Given the description of an element on the screen output the (x, y) to click on. 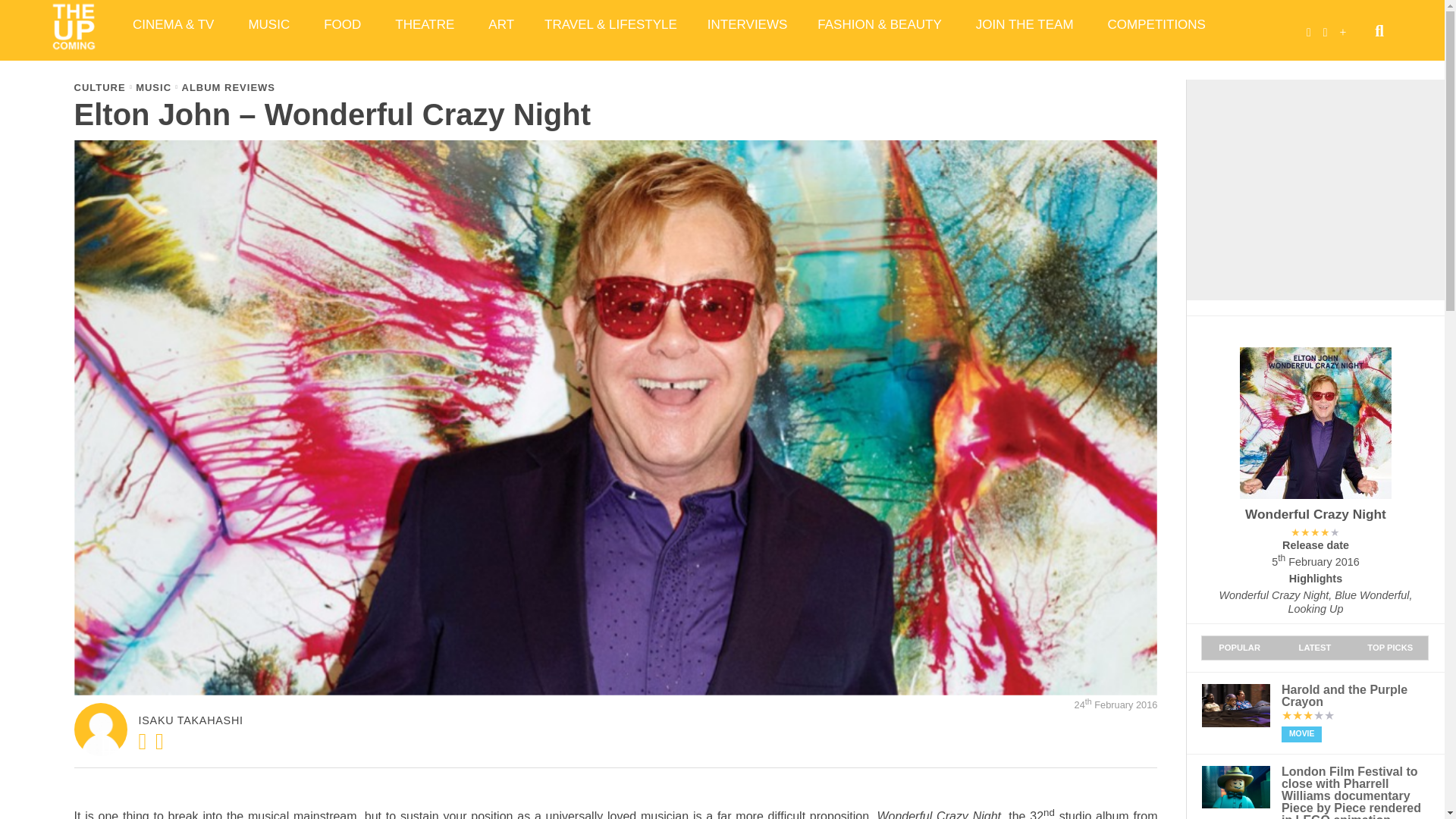
FOOD (344, 24)
ART (501, 24)
MUSIC (270, 24)
THEATRE (426, 24)
JOIN THE TEAM (1026, 24)
INTERVIEWS (747, 24)
